Given the description of an element on the screen output the (x, y) to click on. 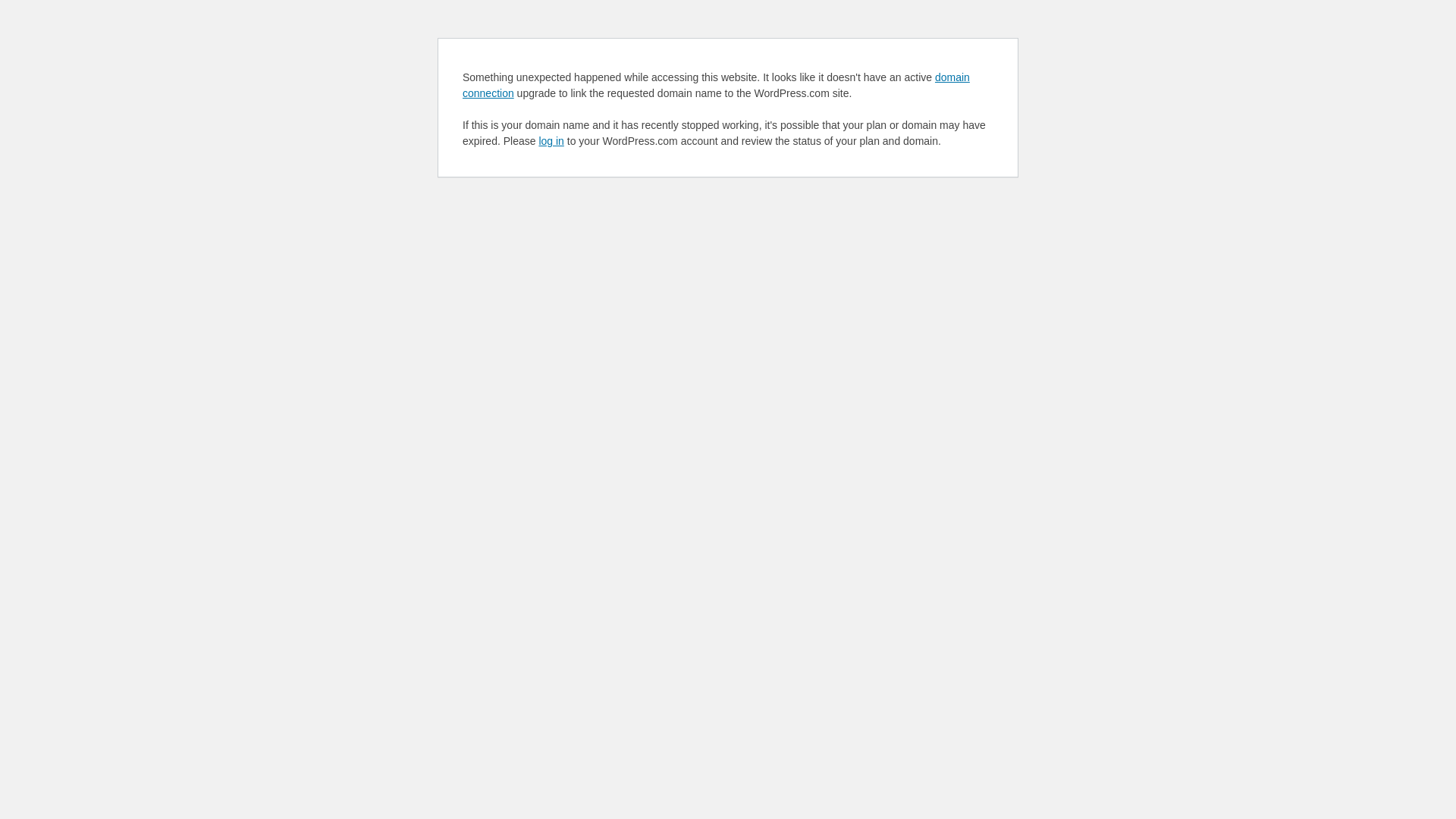
domain connection Element type: text (715, 85)
log in Element type: text (550, 140)
